Given the description of an element on the screen output the (x, y) to click on. 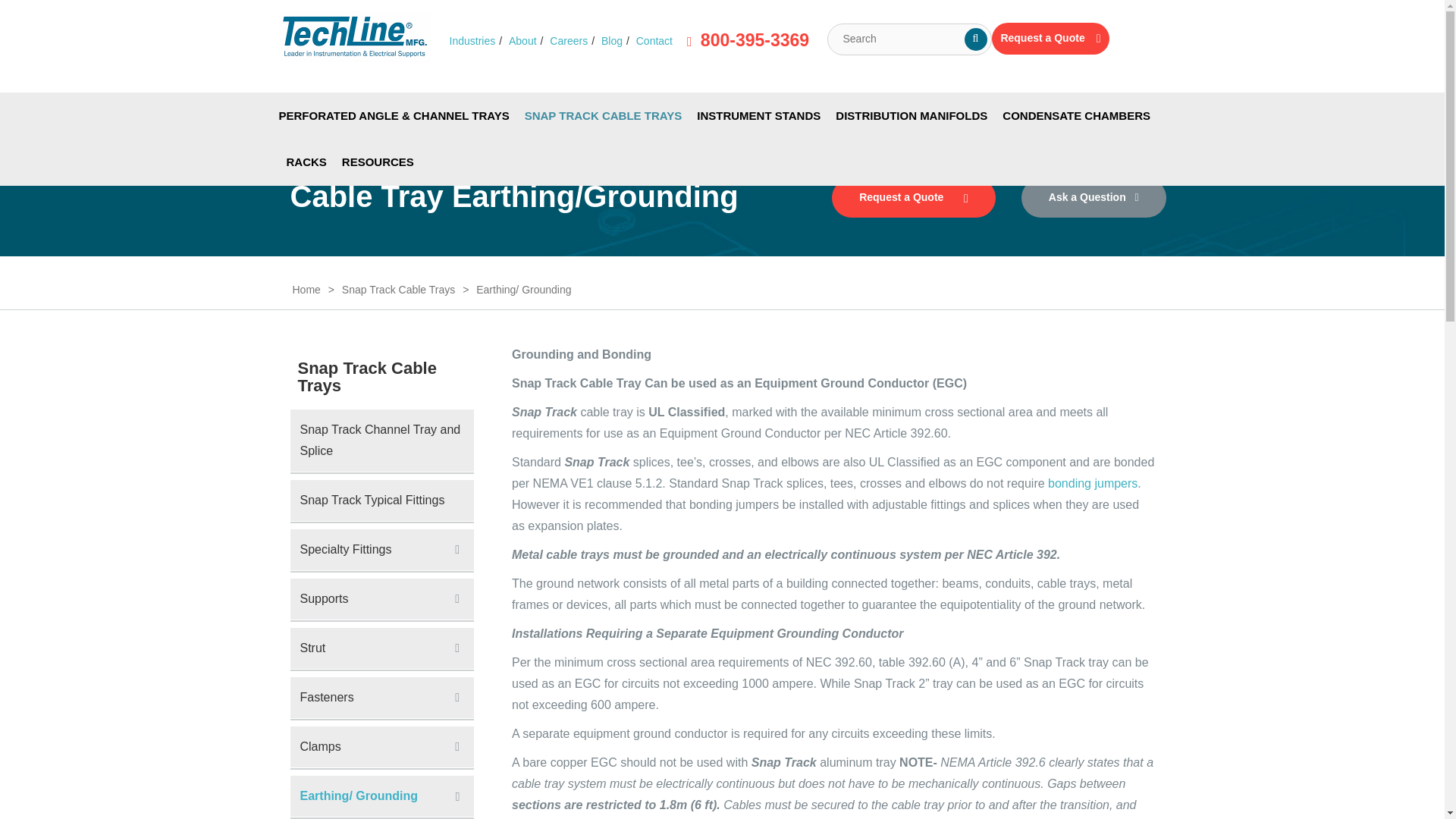
Snap Track Cable Trays (603, 115)
Contact (654, 40)
800-395-3369 (748, 40)
About (522, 40)
Careers (568, 40)
SNAP TRACK CABLE TRAYS (603, 115)
Search (975, 38)
DISTRIBUTION MANIFOLDS (911, 115)
Request a Quote (1049, 38)
Industries (472, 40)
Request A Quote (1049, 38)
INSTRUMENT STANDS (758, 115)
Instrument Stands (758, 115)
Blog (611, 40)
